Given the description of an element on the screen output the (x, y) to click on. 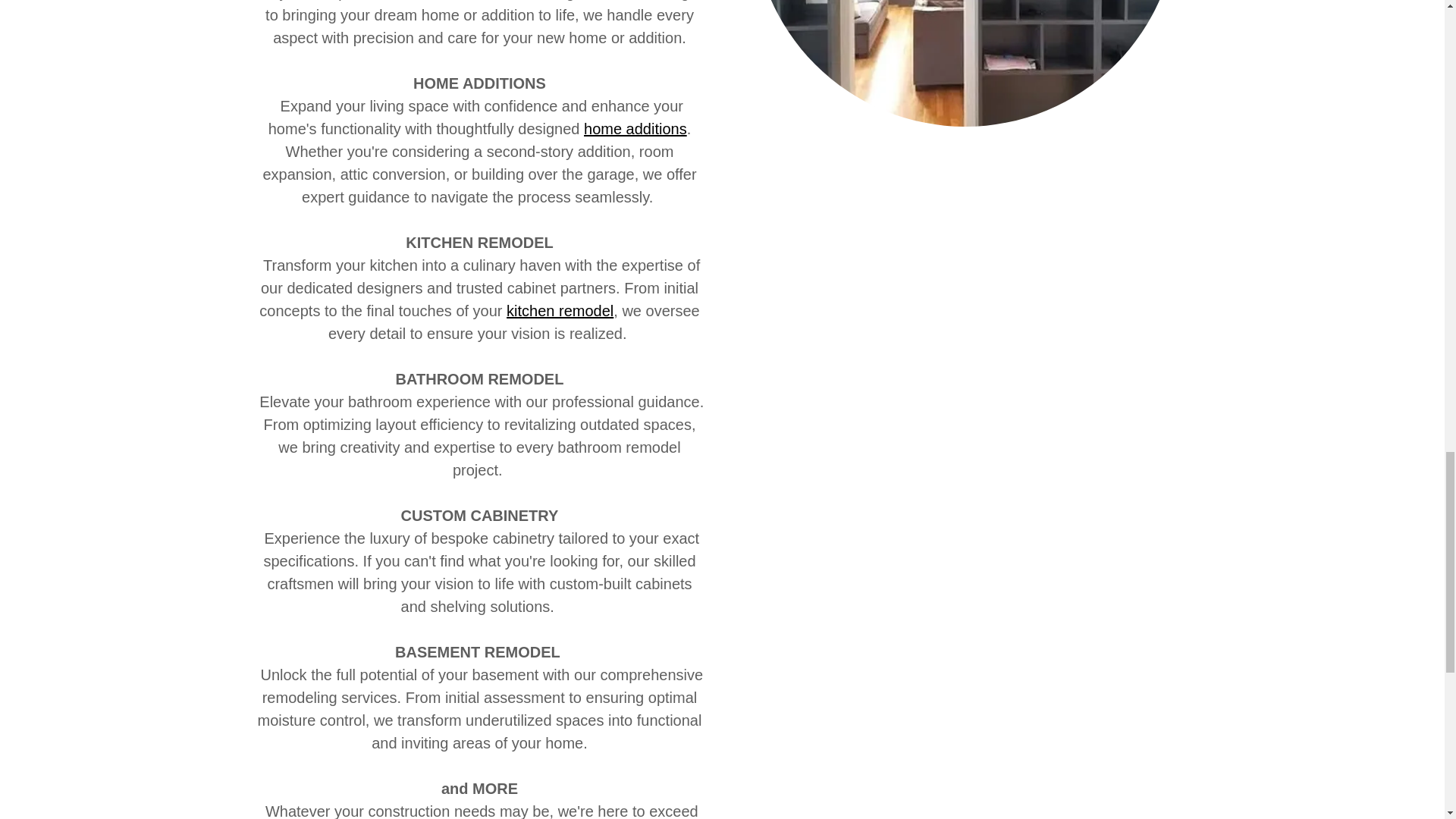
home additions (635, 128)
kitchen remodel (559, 310)
